Given the description of an element on the screen output the (x, y) to click on. 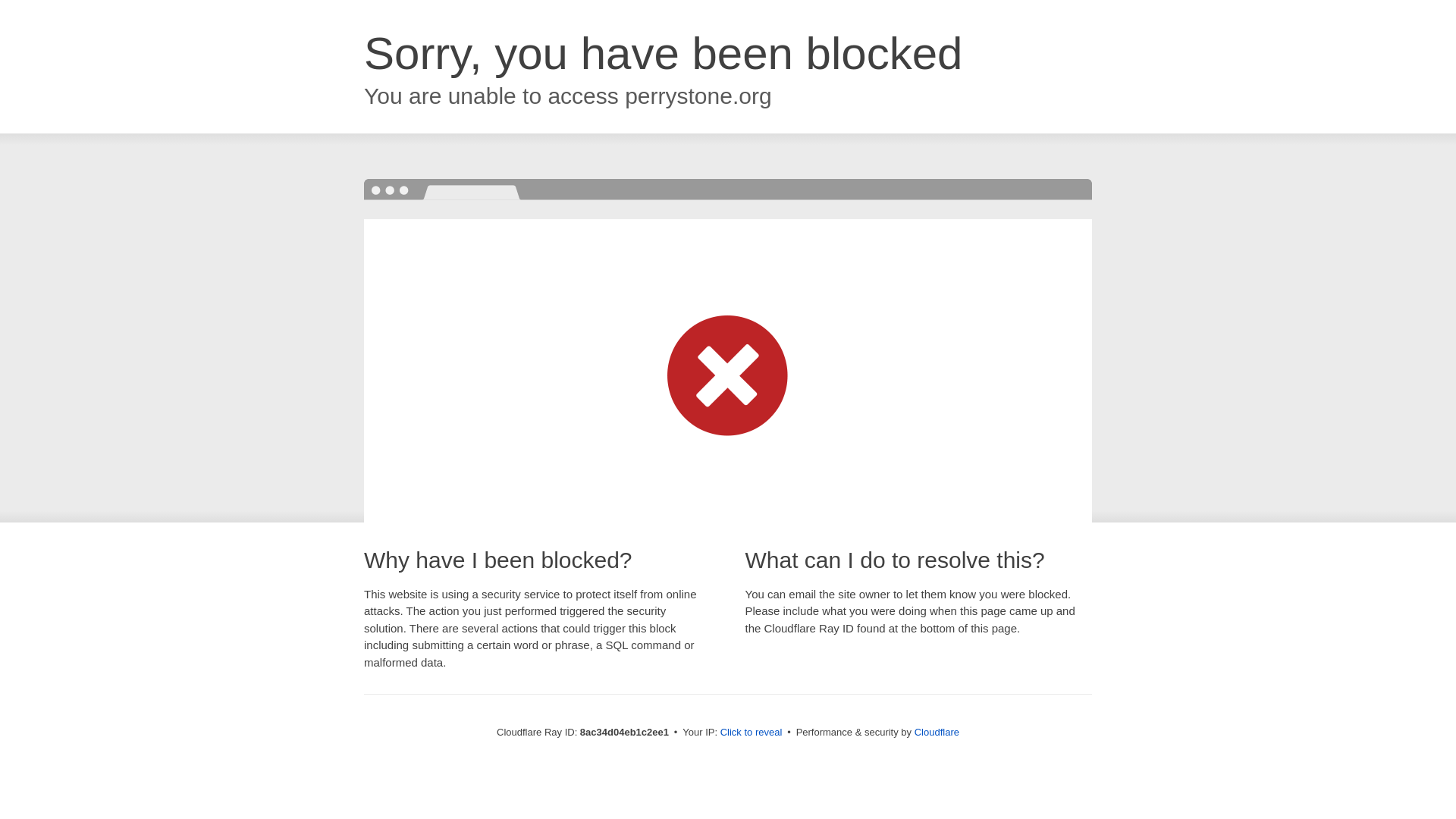
Cloudflare (936, 731)
Click to reveal (751, 732)
